Given the description of an element on the screen output the (x, y) to click on. 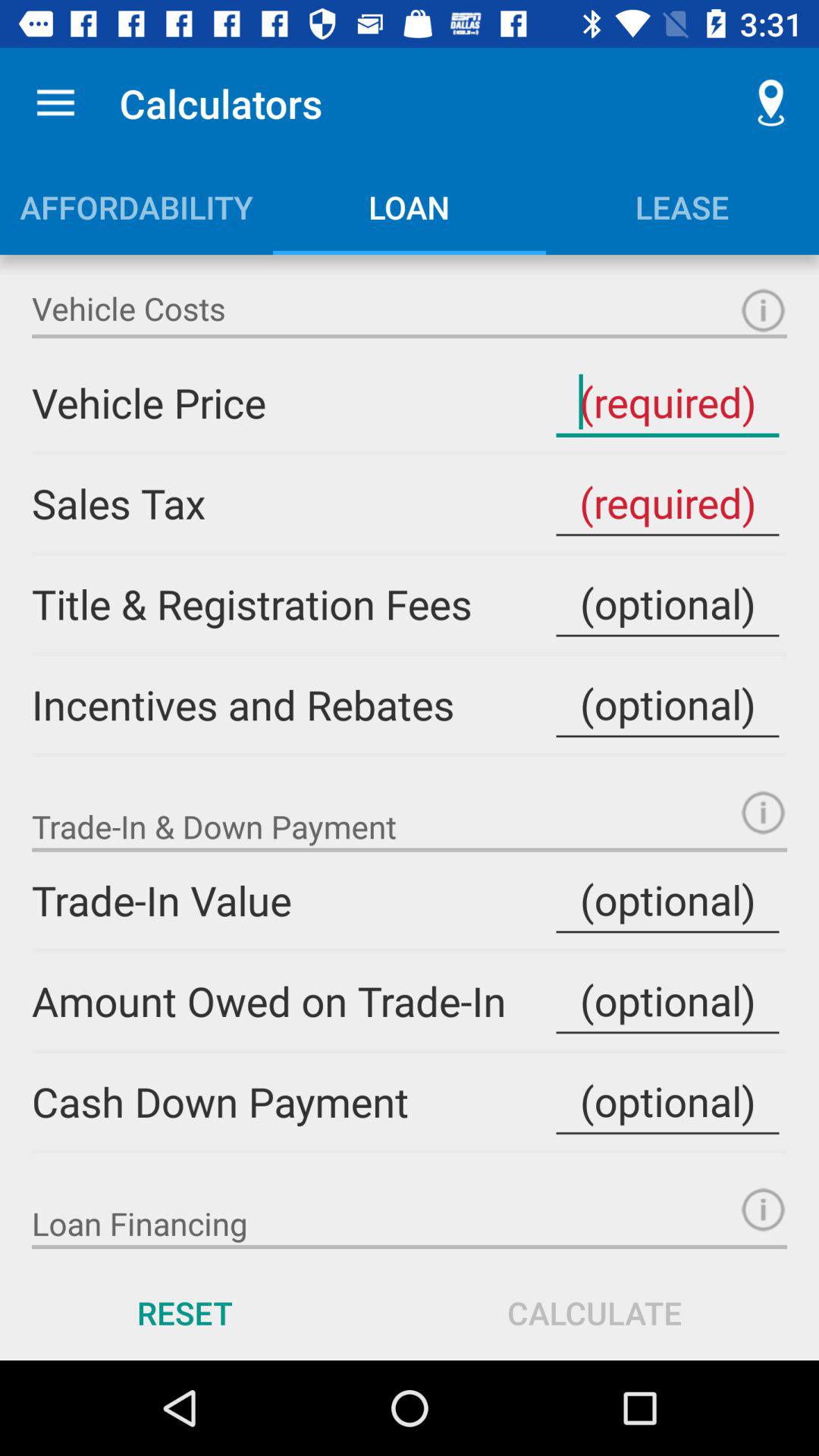
press the icon to the left of calculators icon (55, 103)
